Given the description of an element on the screen output the (x, y) to click on. 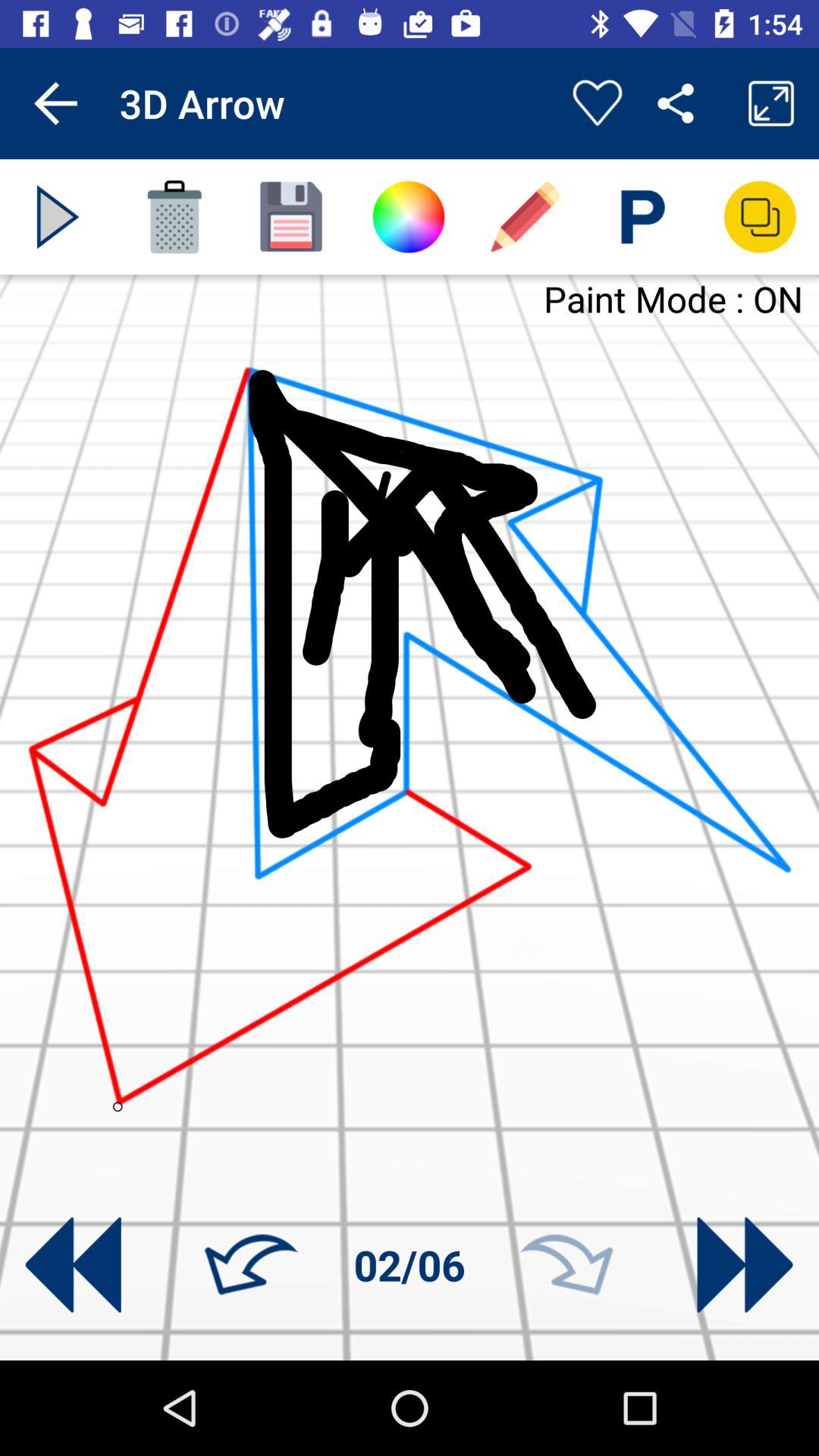
because back devicer (58, 216)
